Given the description of an element on the screen output the (x, y) to click on. 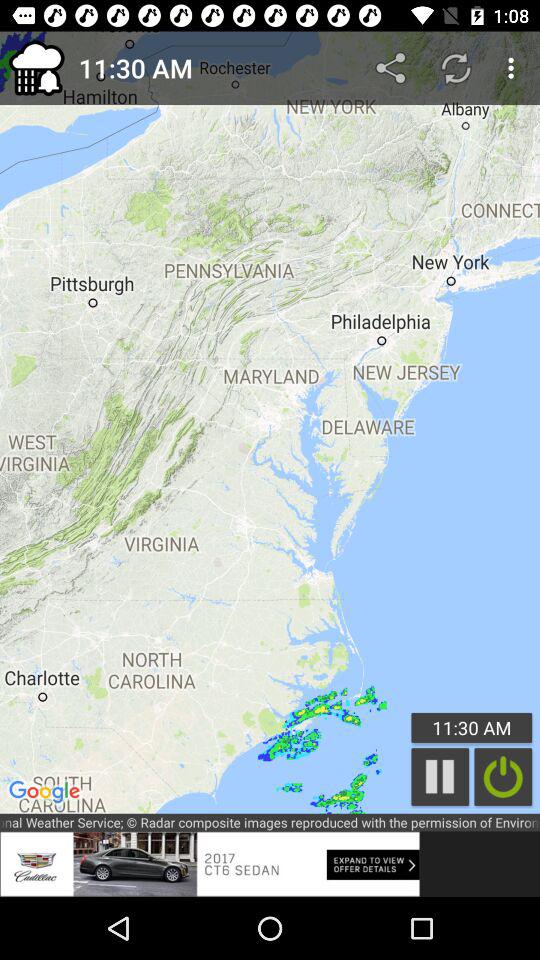
opens up advertisement (210, 864)
